Given the description of an element on the screen output the (x, y) to click on. 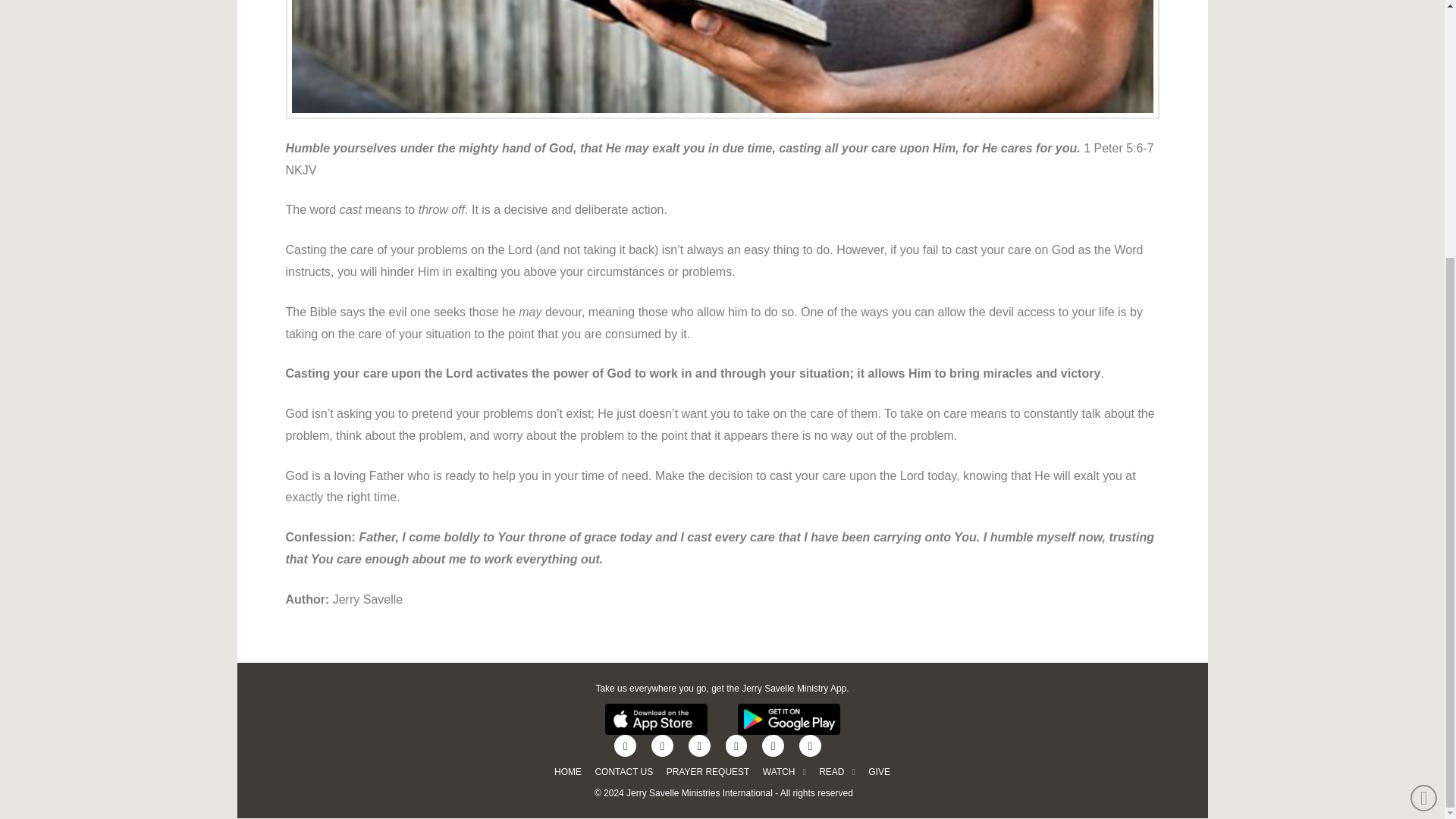
Back to Top (1423, 429)
